Given the description of an element on the screen output the (x, y) to click on. 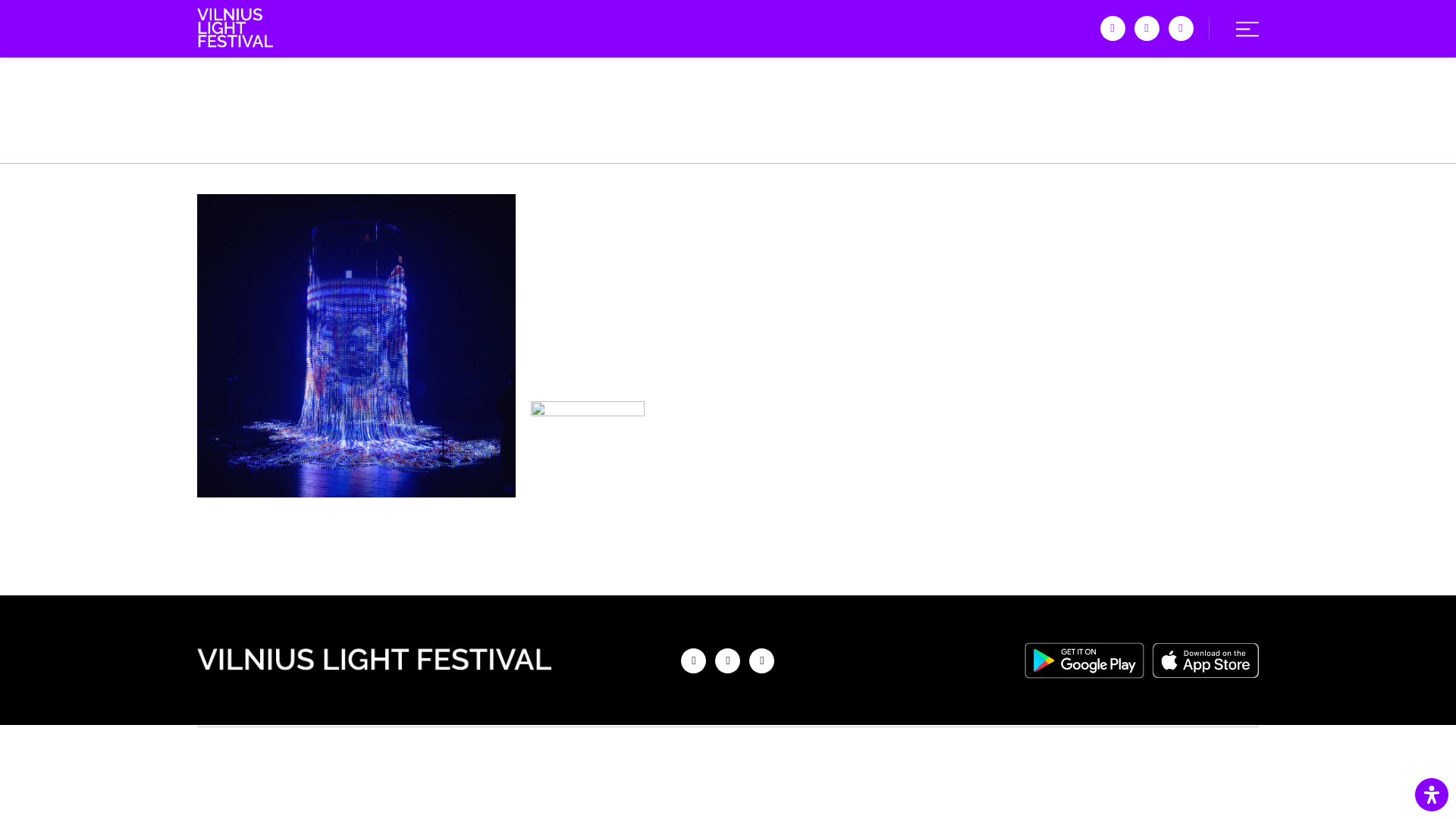
Facebook-f (1112, 27)
Instagram (726, 660)
Youtube (761, 660)
Youtube (1181, 27)
Facebook-f (693, 660)
PRIVACY POLICY (789, 751)
Instagram (1146, 27)
